Given the description of an element on the screen output the (x, y) to click on. 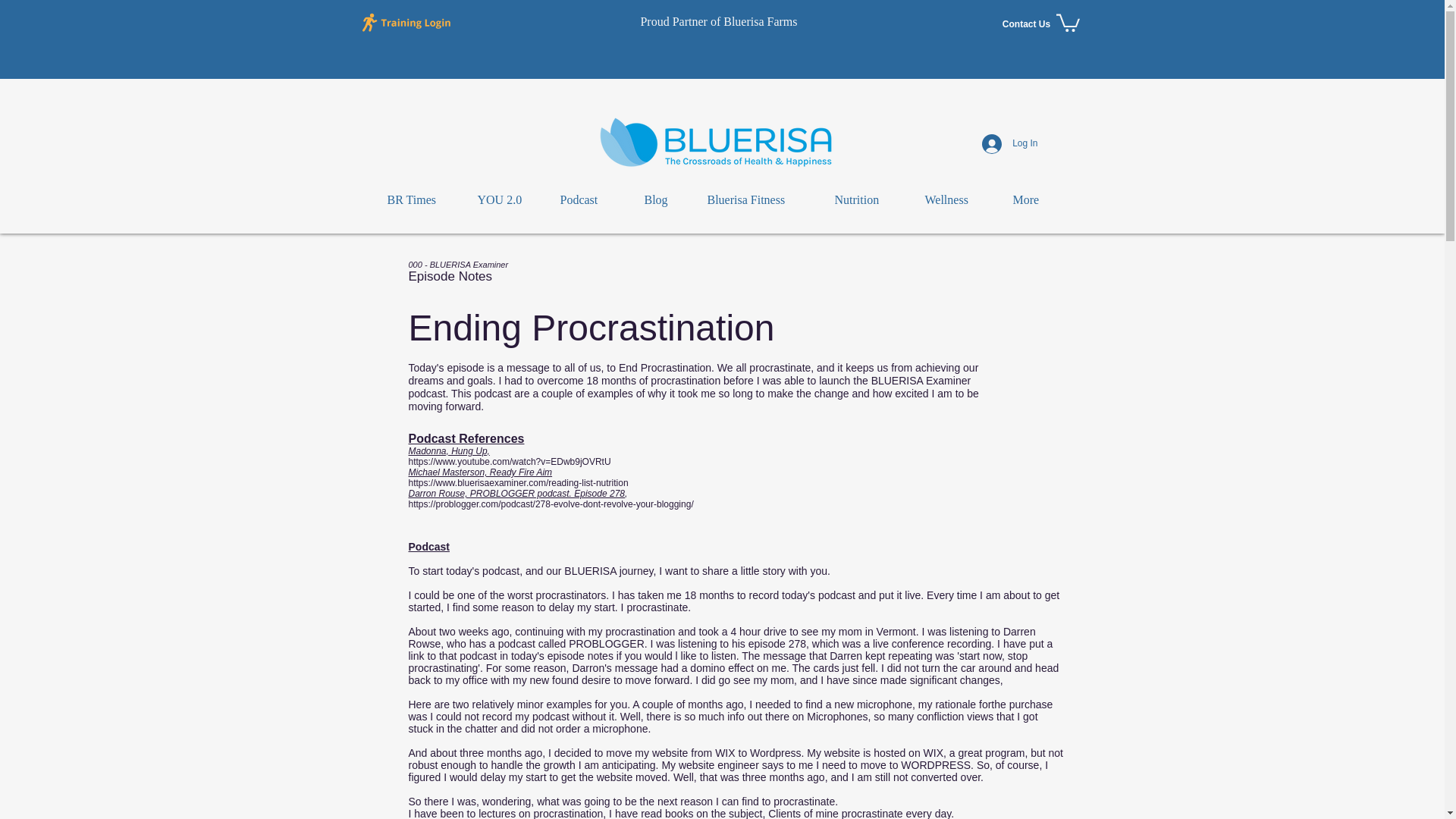
Log In (1009, 143)
Nutrition (869, 200)
Contact Us (1025, 24)
Blog (663, 200)
Podcast (590, 200)
Wellness (956, 200)
Twitter Follow (971, 23)
Training Login (407, 21)
BR Times (420, 200)
YOU 2.0 (506, 200)
Proud Partner of Bluerisa Farms (718, 21)
